Given the description of an element on the screen output the (x, y) to click on. 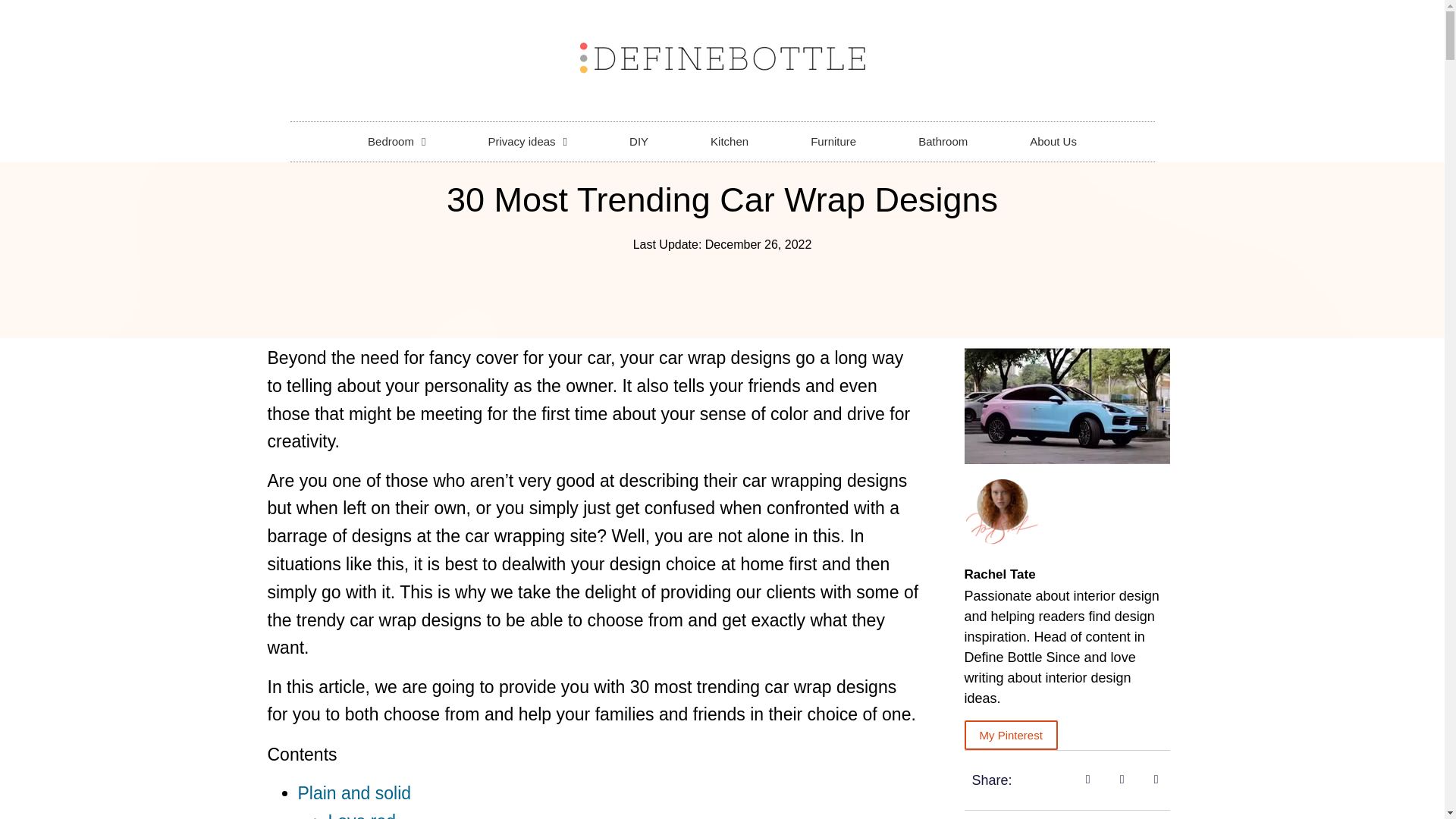
Privacy ideas (527, 141)
About Us (1053, 141)
Kitchen (728, 141)
Furniture (832, 141)
Bedroom (396, 141)
DIY (638, 141)
Bathroom (942, 141)
